Given the description of an element on the screen output the (x, y) to click on. 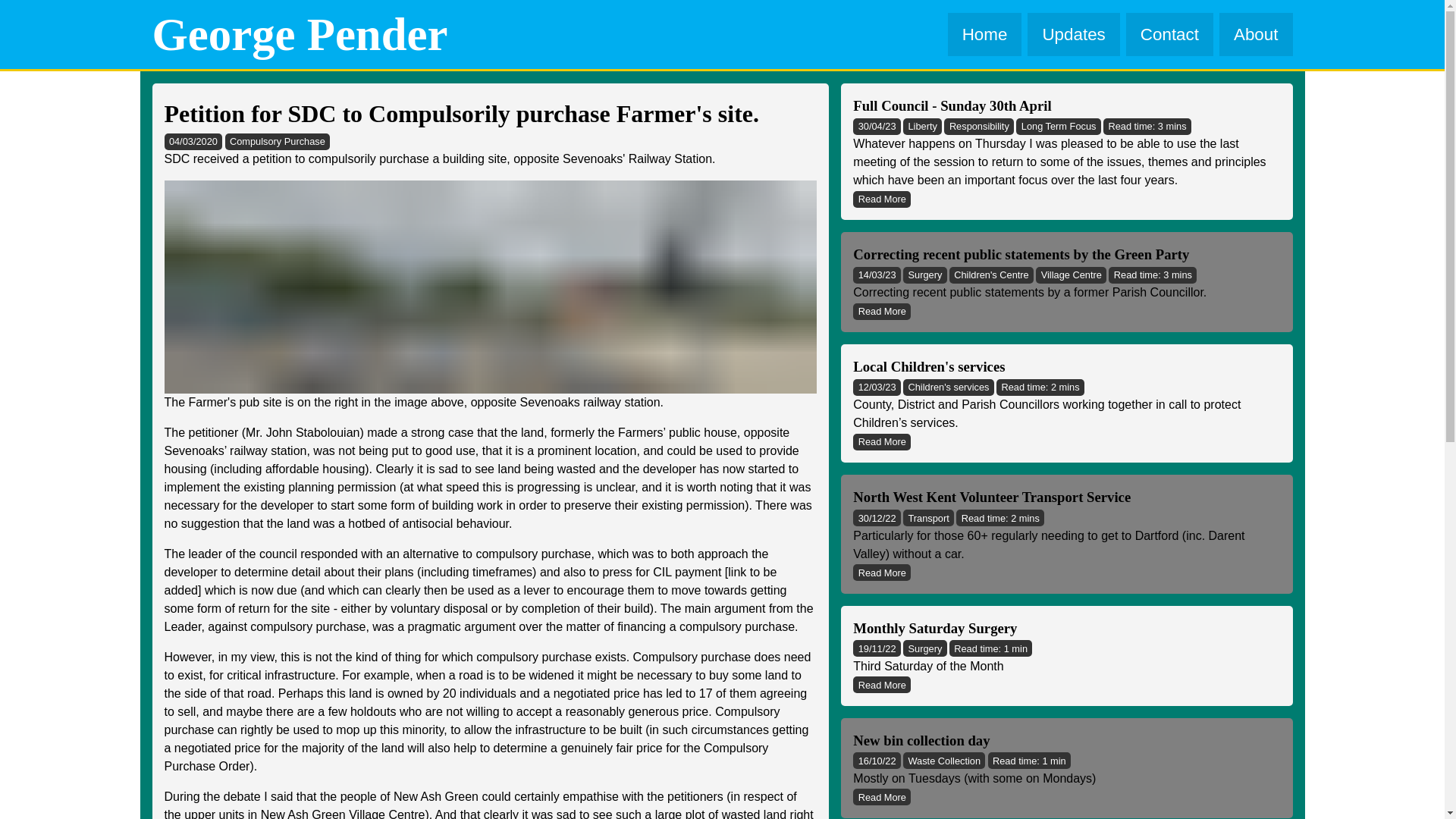
About (1256, 34)
Home (984, 34)
Updates (1073, 34)
Contact (1168, 34)
